Given the description of an element on the screen output the (x, y) to click on. 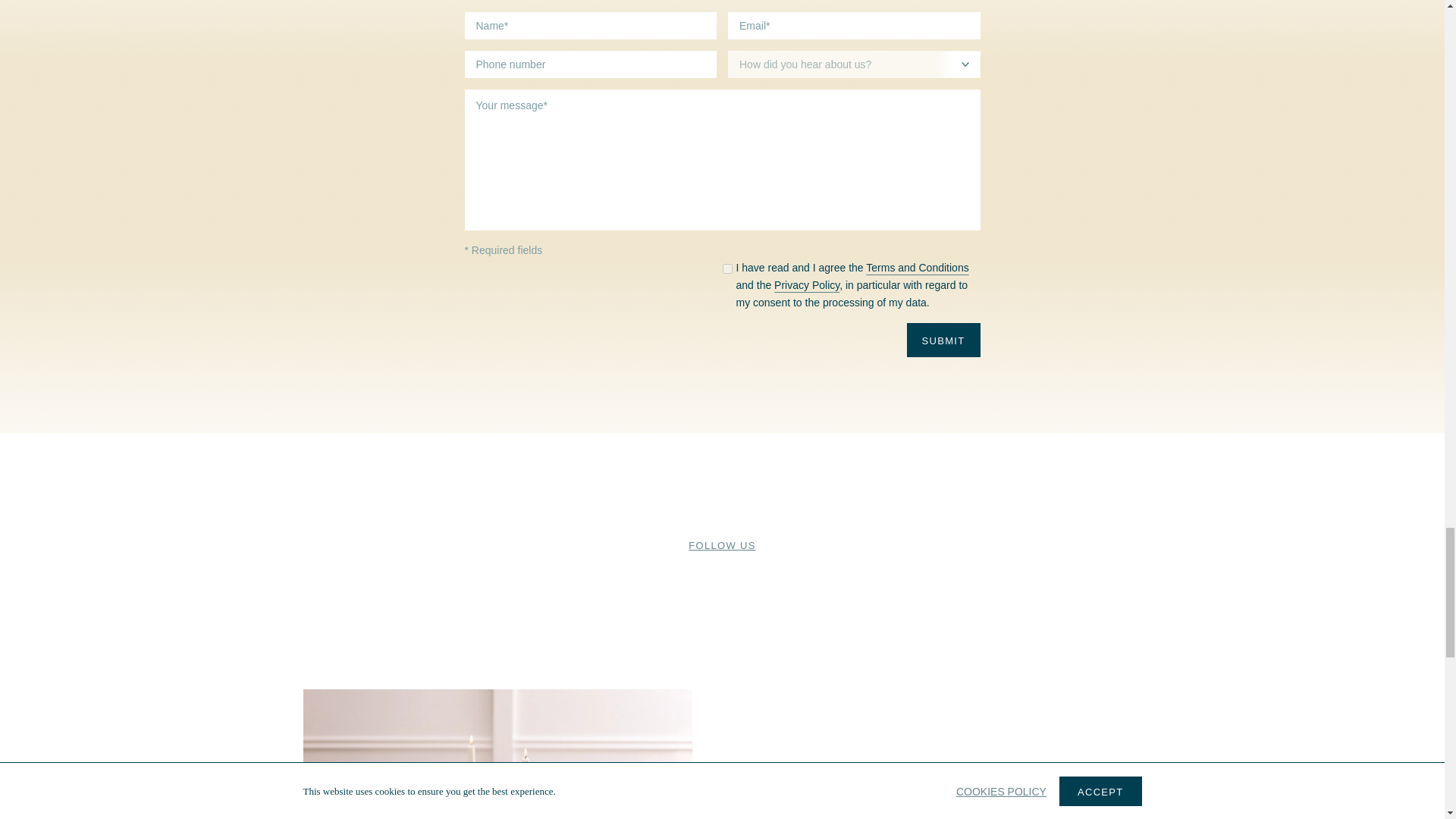
How did you hear about us? (853, 63)
on (727, 268)
